Given the description of an element on the screen output the (x, y) to click on. 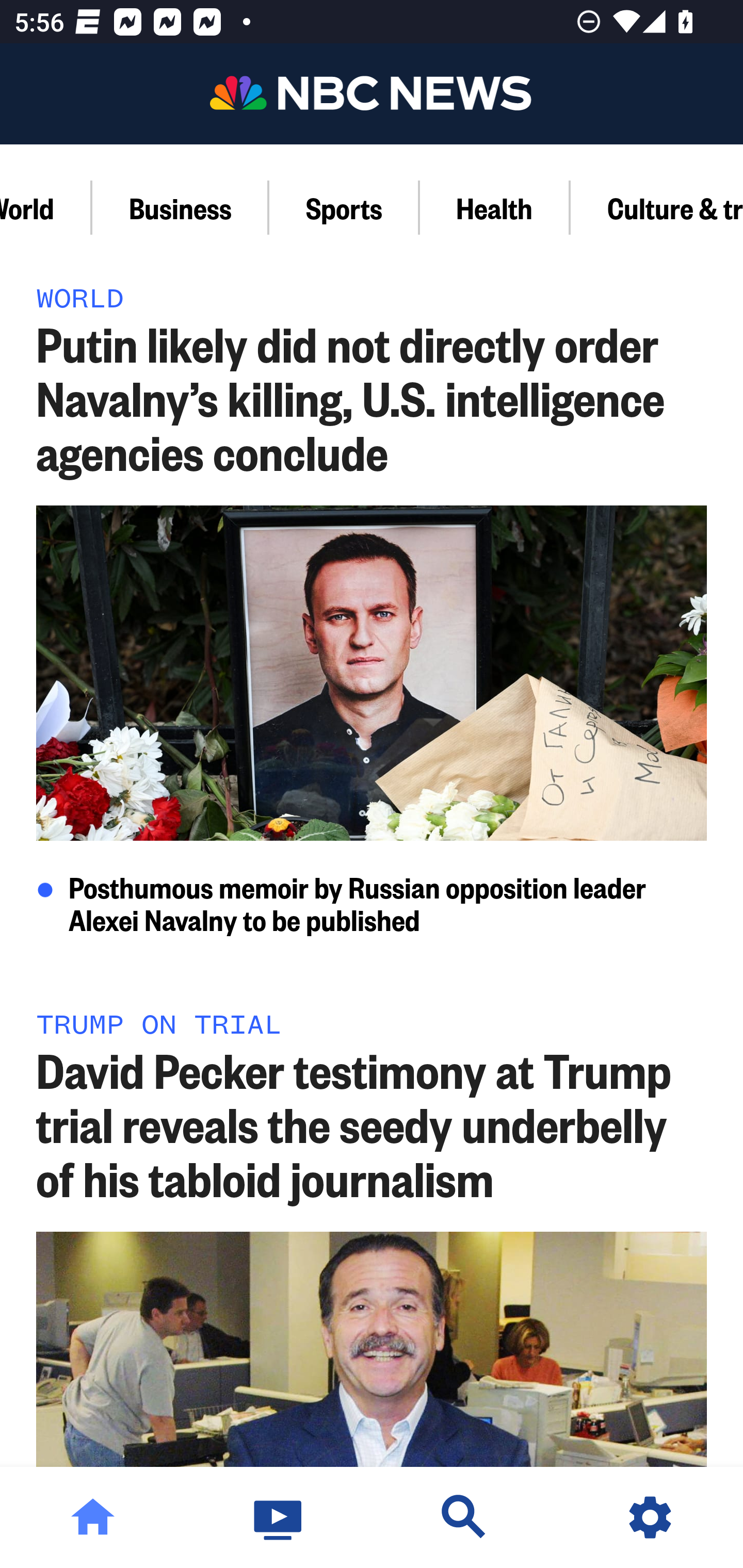
Business Section,Business (180, 207)
Sports Section,Sports (343, 207)
Health Section,Health (494, 207)
Culture & trends Section,Culture & trends (656, 207)
Watch (278, 1517)
Discover (464, 1517)
Settings (650, 1517)
